Given the description of an element on the screen output the (x, y) to click on. 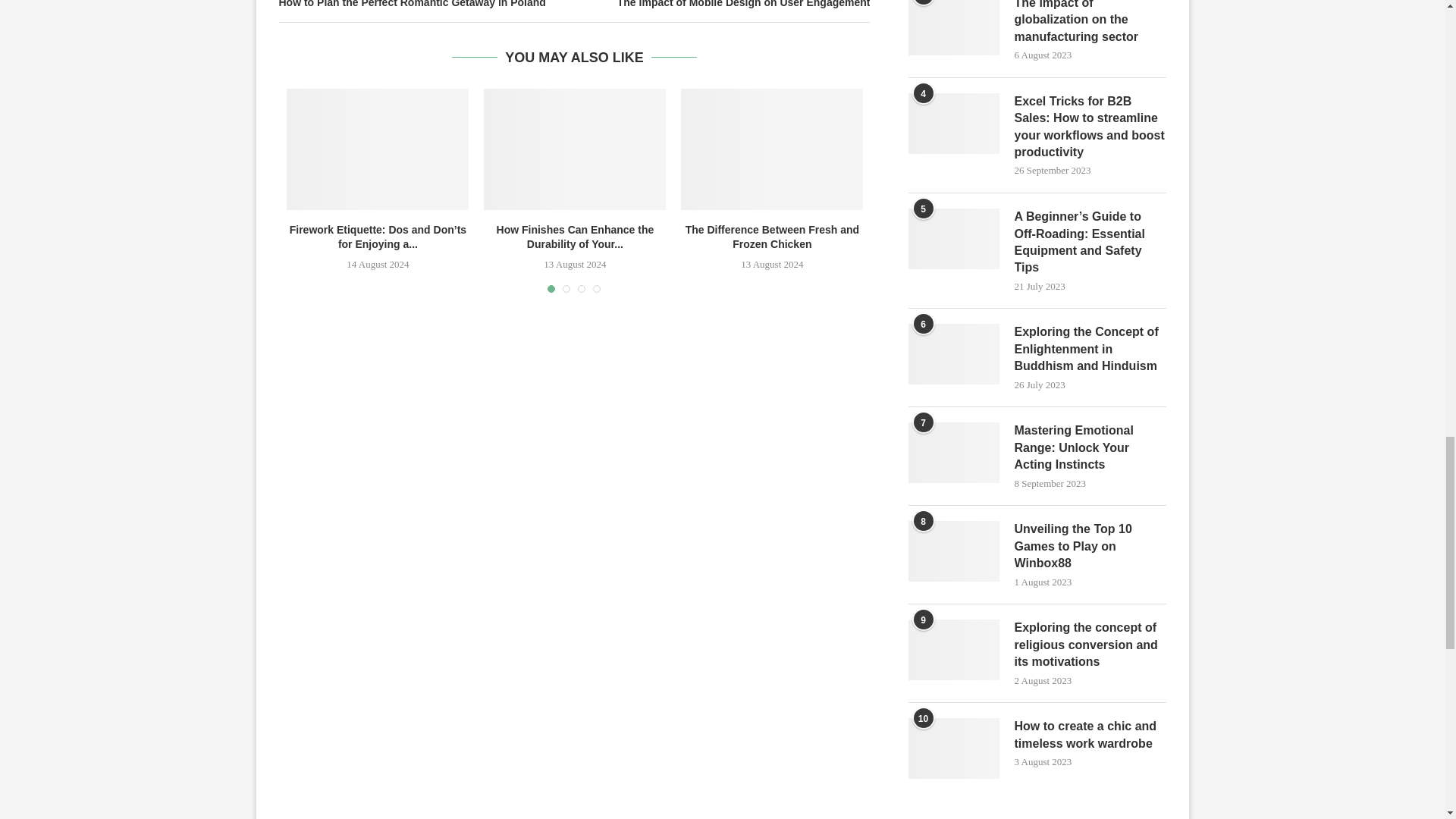
How to Plan the Perfect Romantic Getaway in Poland (427, 5)
How Finishes Can Enhance the Durability of Your Surfaces (574, 148)
The Difference Between Fresh and Frozen Chicken (772, 148)
